Given the description of an element on the screen output the (x, y) to click on. 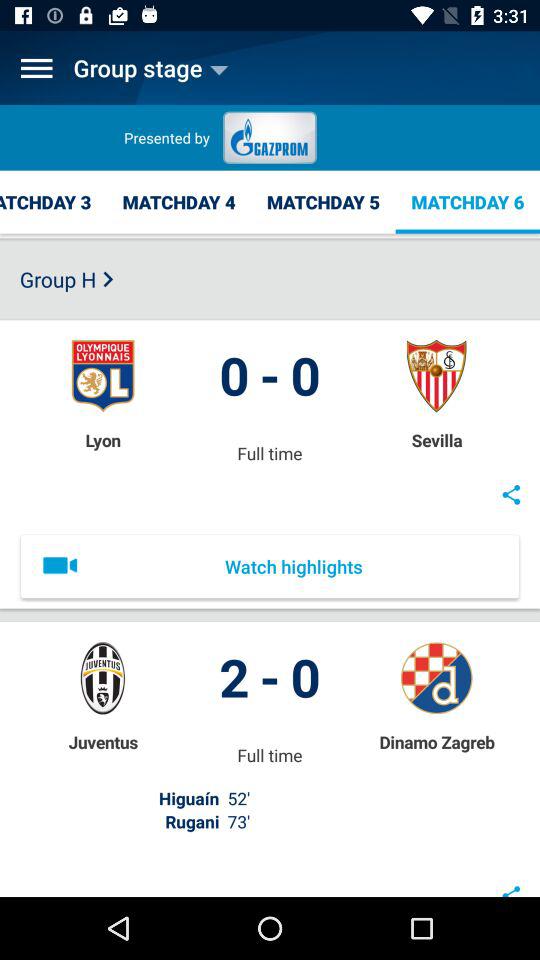
flip to watch highlights item (270, 566)
